Given the description of an element on the screen output the (x, y) to click on. 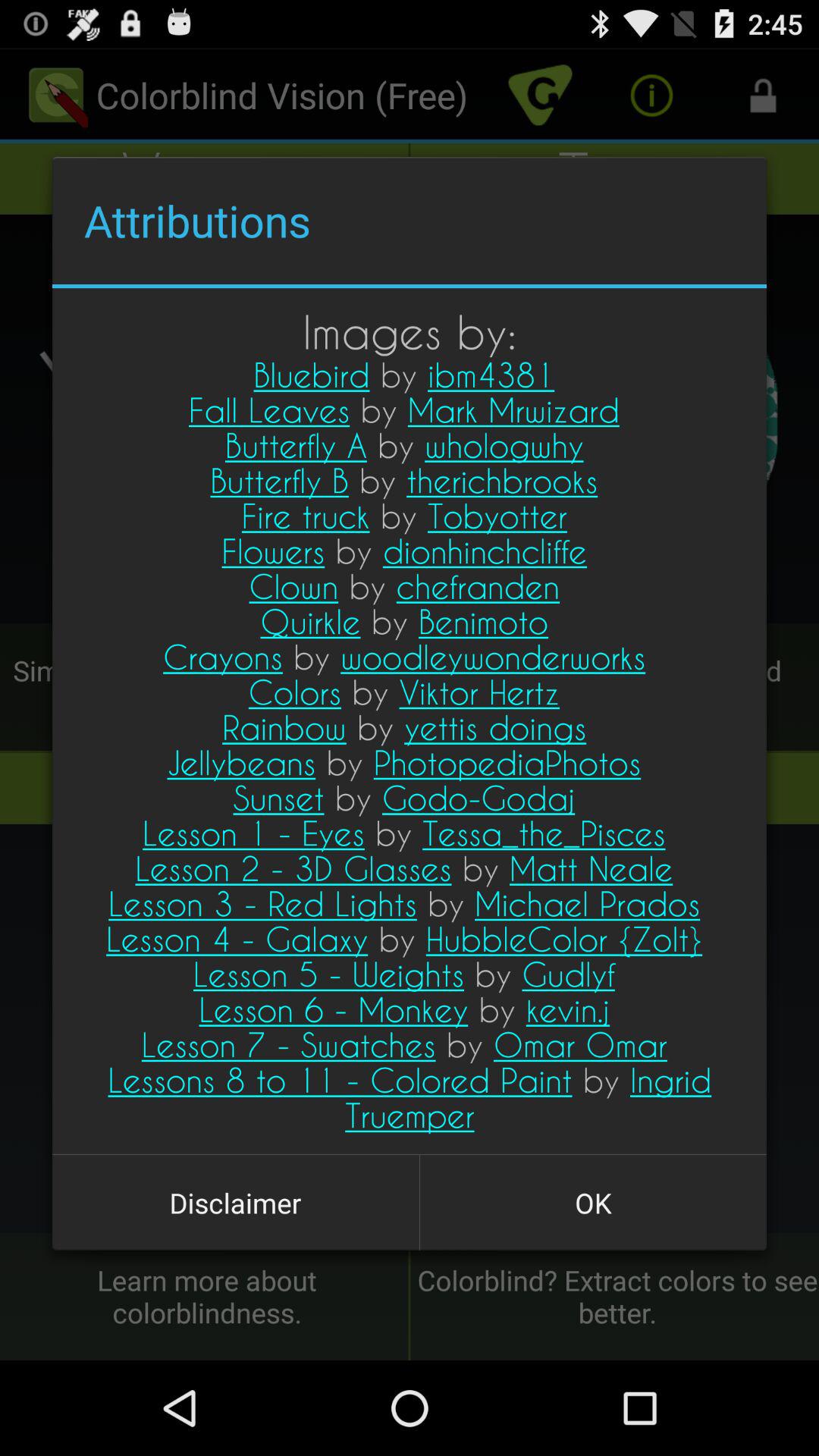
flip to ok icon (593, 1202)
